Given the description of an element on the screen output the (x, y) to click on. 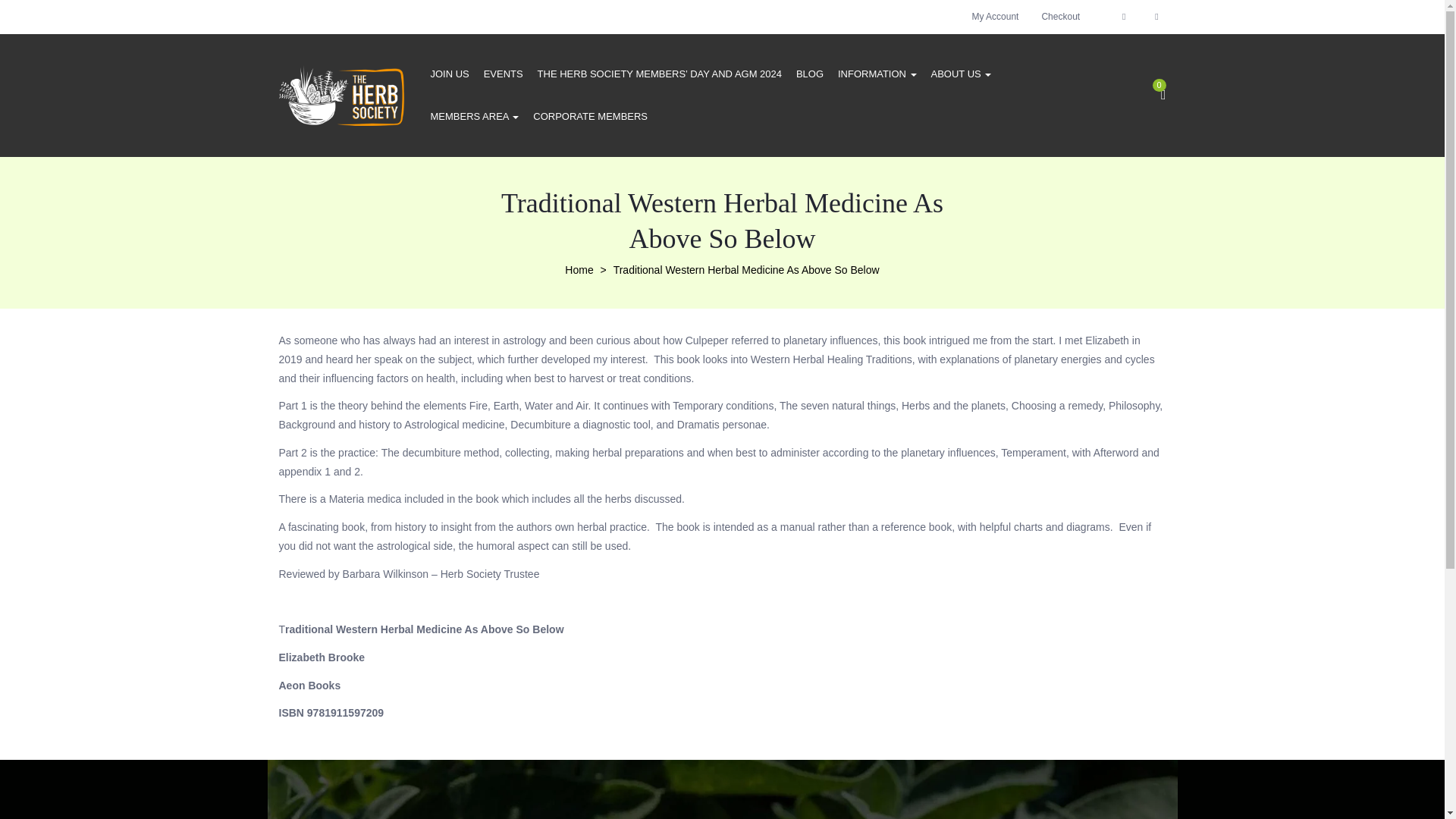
JOIN US (449, 74)
My Account (994, 16)
Checkout (1059, 16)
EVENTS (502, 74)
